Given the description of an element on the screen output the (x, y) to click on. 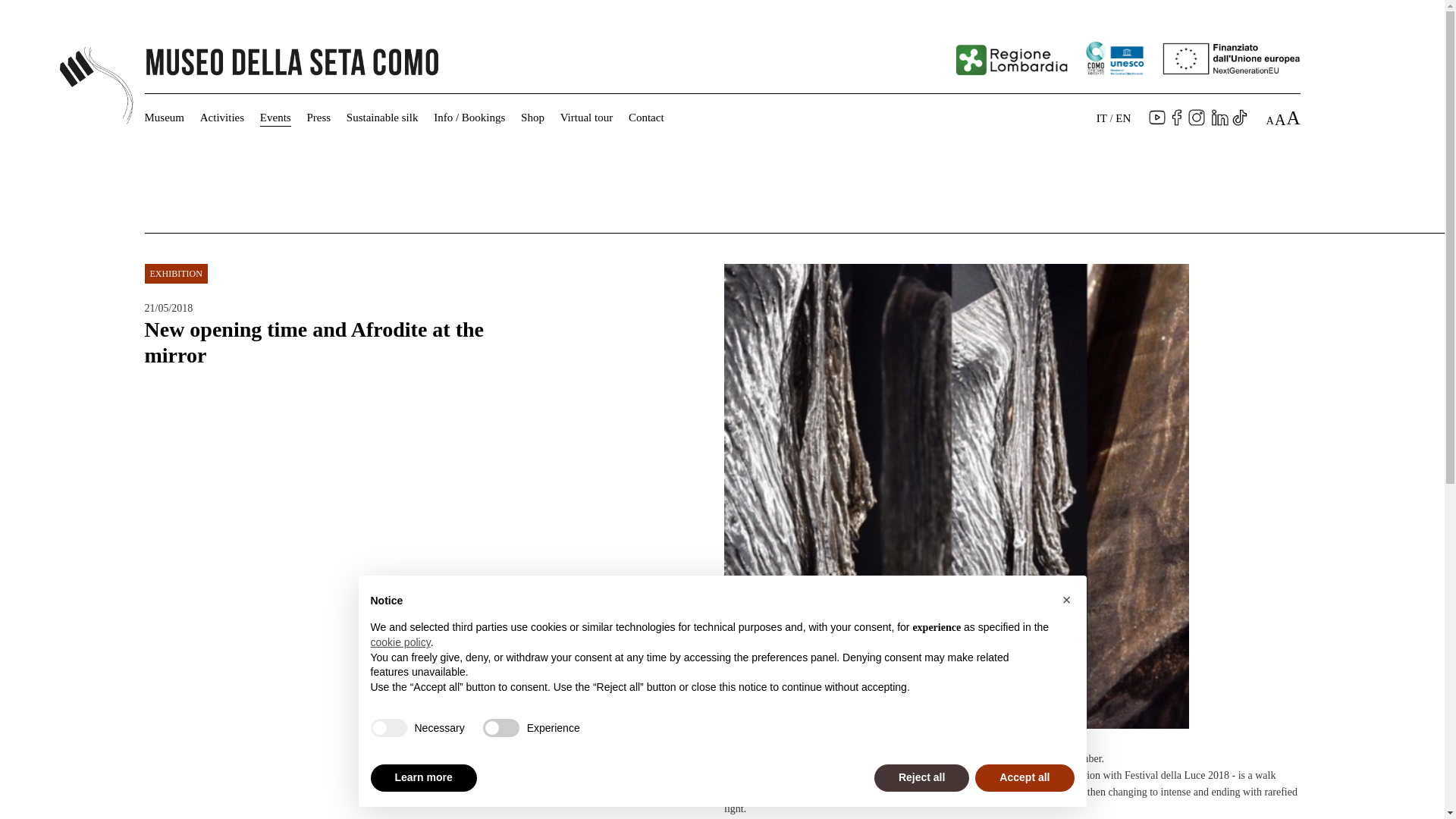
A (1270, 120)
Museum (164, 117)
Facebook (1177, 121)
Sustainable silk (382, 117)
IT (1101, 118)
EN (1123, 118)
Press (317, 117)
false (501, 728)
Museum (164, 117)
A (1280, 118)
Contact (645, 117)
Youtube (1157, 121)
Virtual tour (586, 117)
Shop (532, 117)
A (1292, 117)
